Given the description of an element on the screen output the (x, y) to click on. 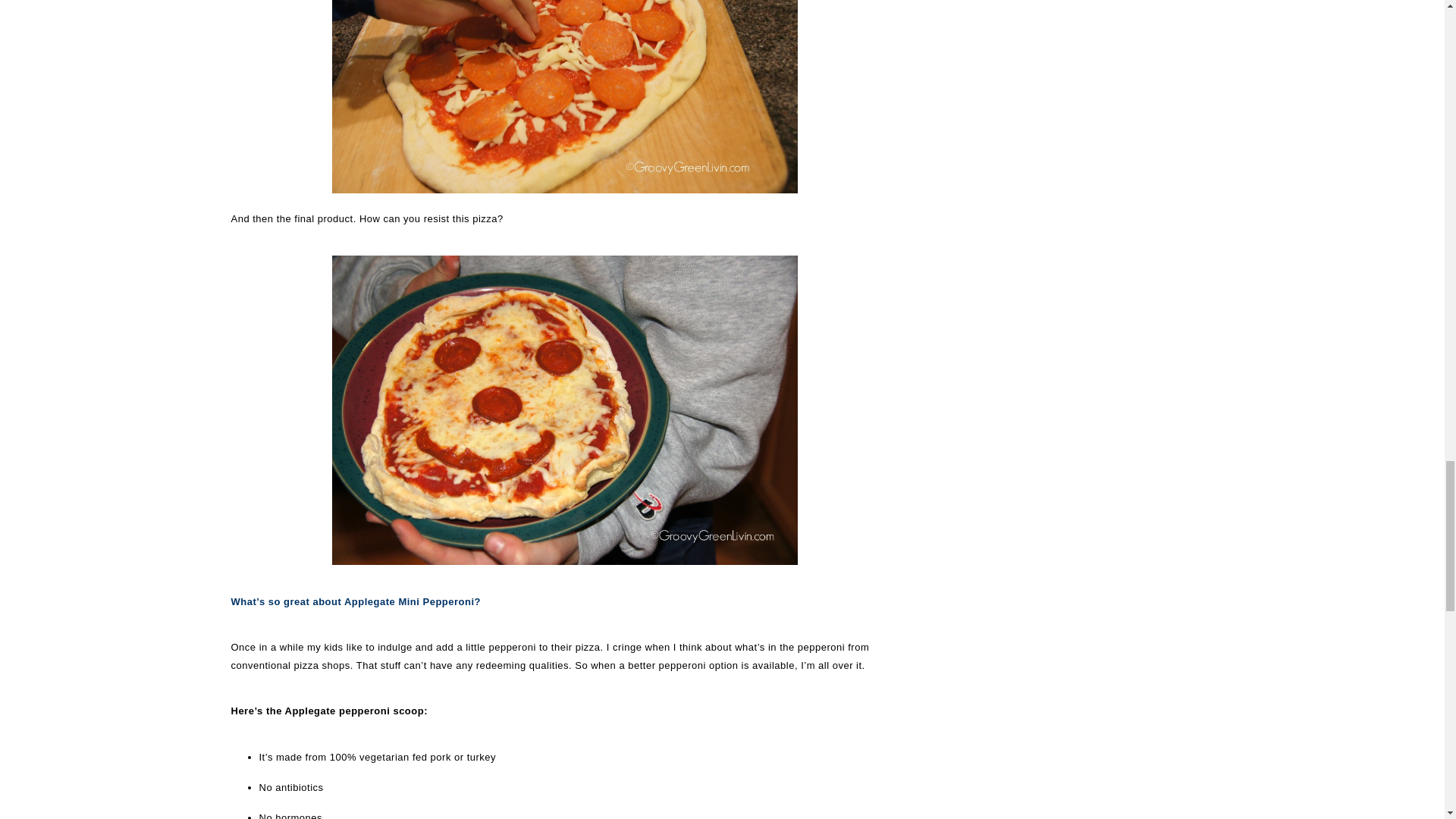
Groovy Green Livin Applegate (564, 96)
